Given the description of an element on the screen output the (x, y) to click on. 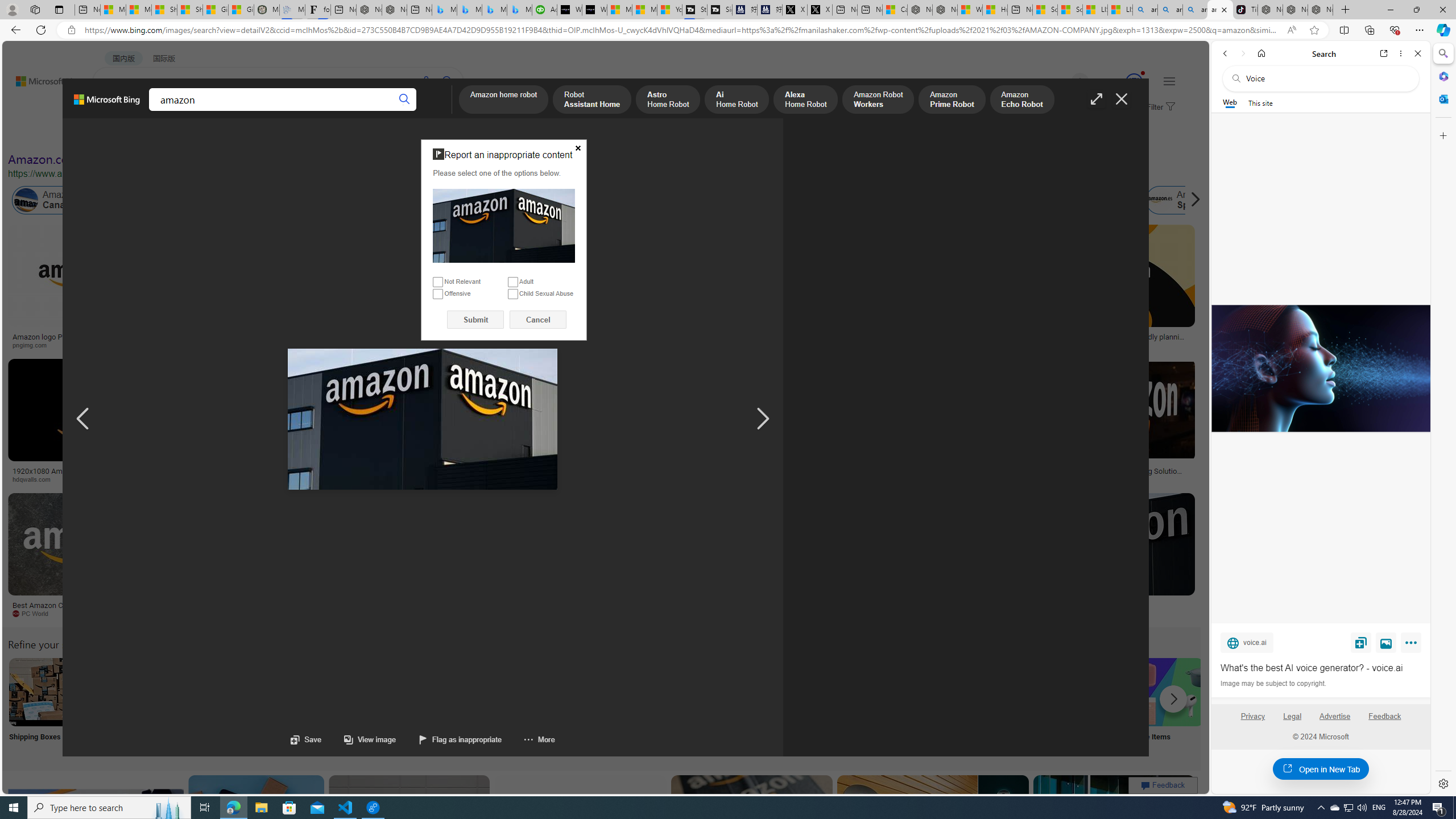
DICT (357, 111)
VIDEOS (260, 111)
Amazon Log into My Account (268, 691)
voice.ai (1247, 642)
Amazon Forest (999, 200)
Amazon Visa Card Login (1093, 691)
Amazon Canada Online (25, 200)
Kindle Paperwhite Case (673, 298)
Online Store (644, 706)
Child Sexual Abuse (512, 293)
Feedback (1384, 715)
